Given the description of an element on the screen output the (x, y) to click on. 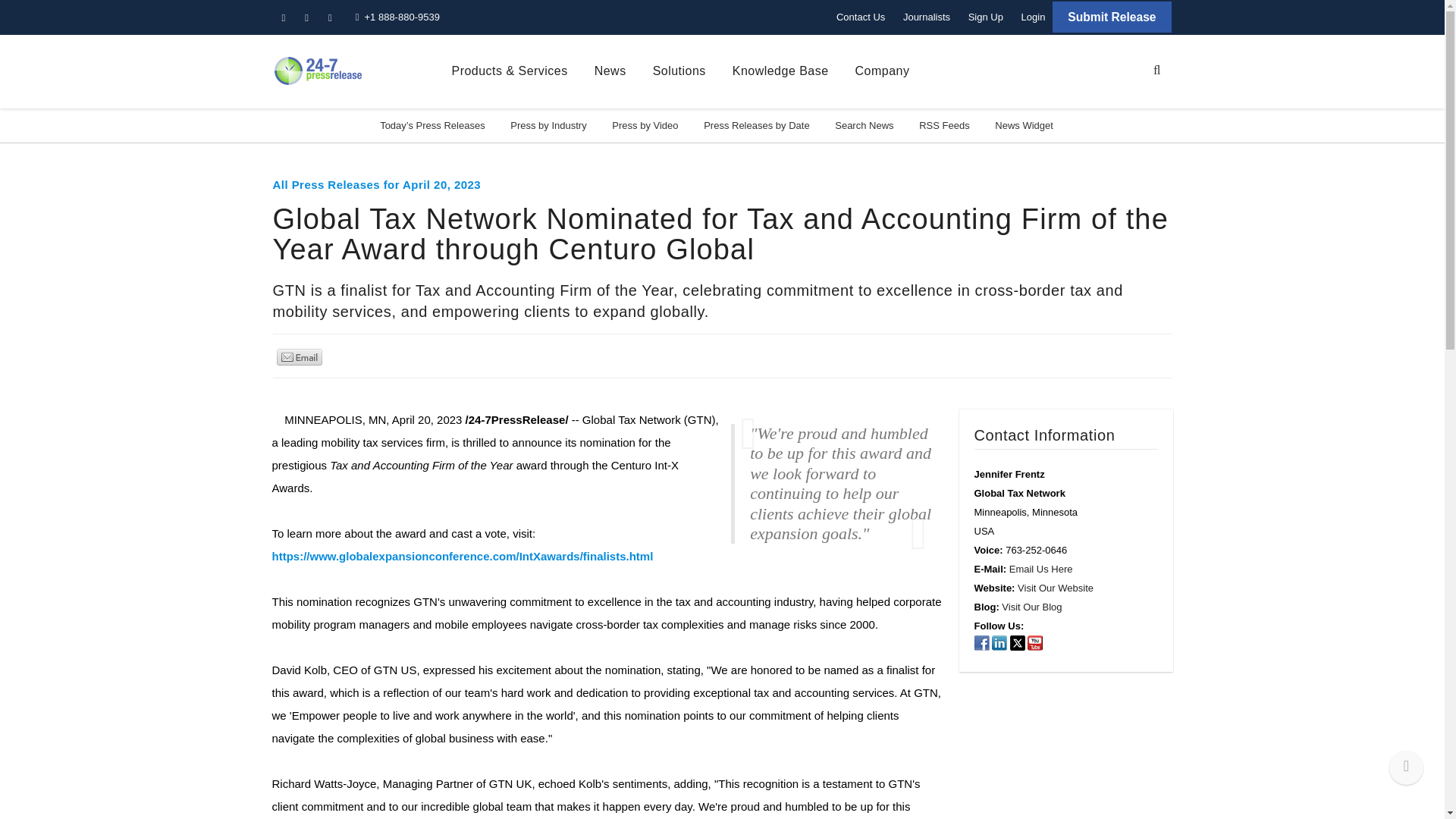
Company (882, 71)
Journalists (926, 16)
Sign Up (985, 16)
Contact Us (860, 16)
Knowledge Base (780, 71)
Solutions (679, 71)
Submit Release (1111, 16)
Login (1032, 16)
